Given the description of an element on the screen output the (x, y) to click on. 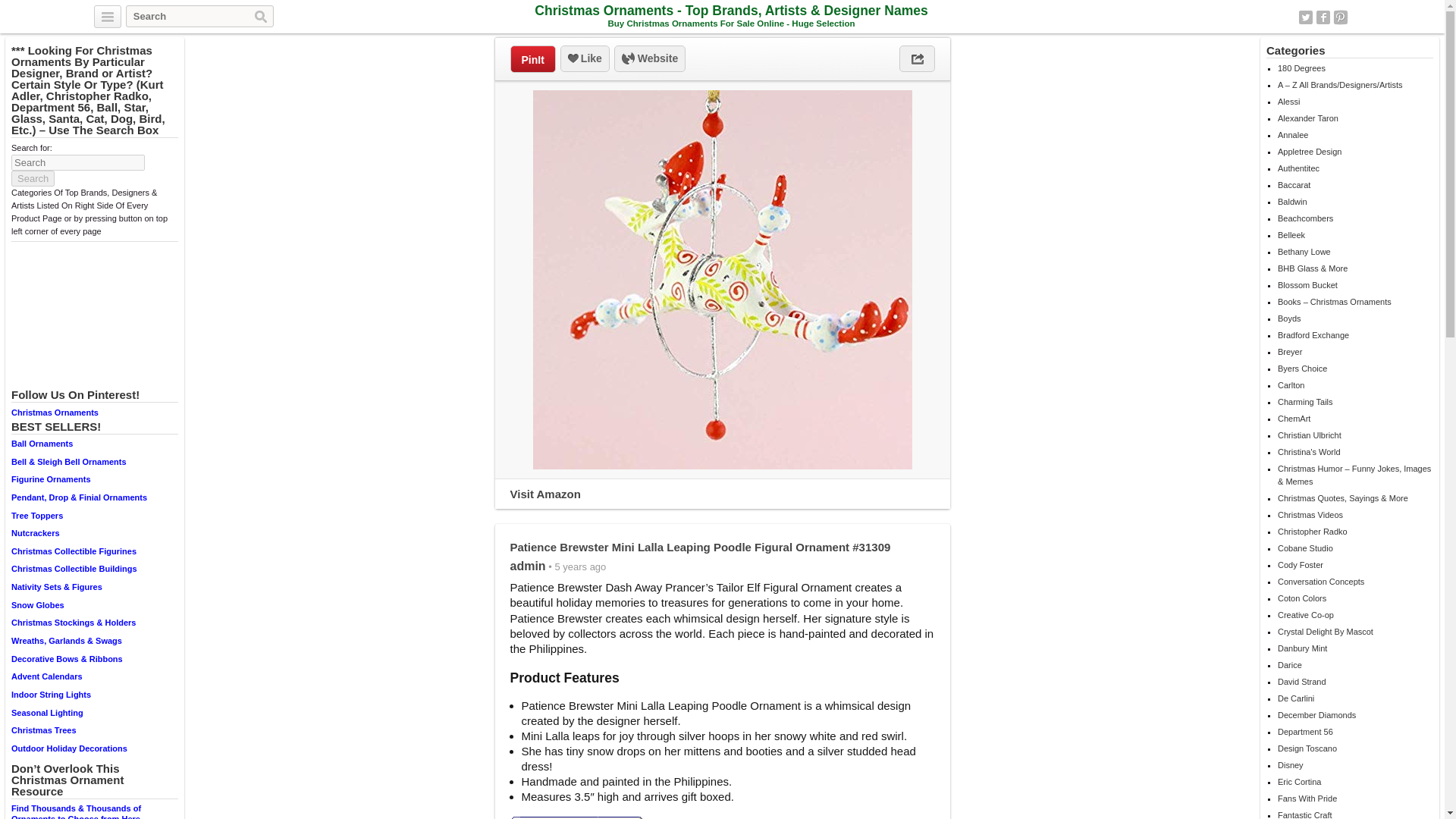
Search (33, 178)
Pinterest (1340, 17)
Facebook (1323, 17)
Twitter (1305, 17)
Search (260, 16)
Search (260, 16)
